Given the description of an element on the screen output the (x, y) to click on. 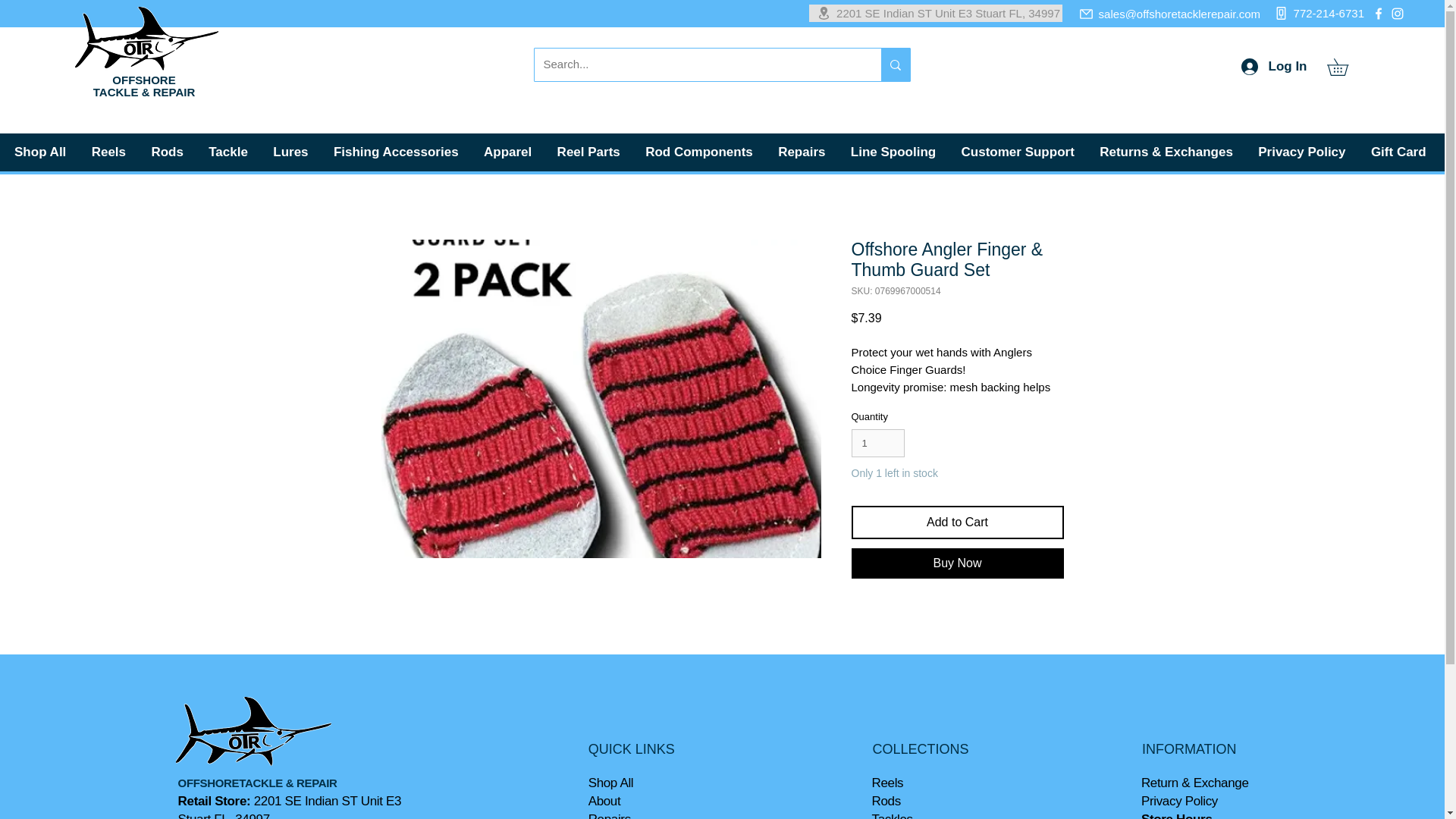
Rods (168, 152)
Rod Components (700, 152)
Tackle (230, 152)
Lures (292, 152)
2201 SE Indian ST Unit E3 Stuart FL, 34997 (935, 13)
772-214-6731 (1316, 13)
1 (877, 443)
Reels (110, 152)
Shop All (42, 152)
Fishing Accessories (397, 152)
